Given the description of an element on the screen output the (x, y) to click on. 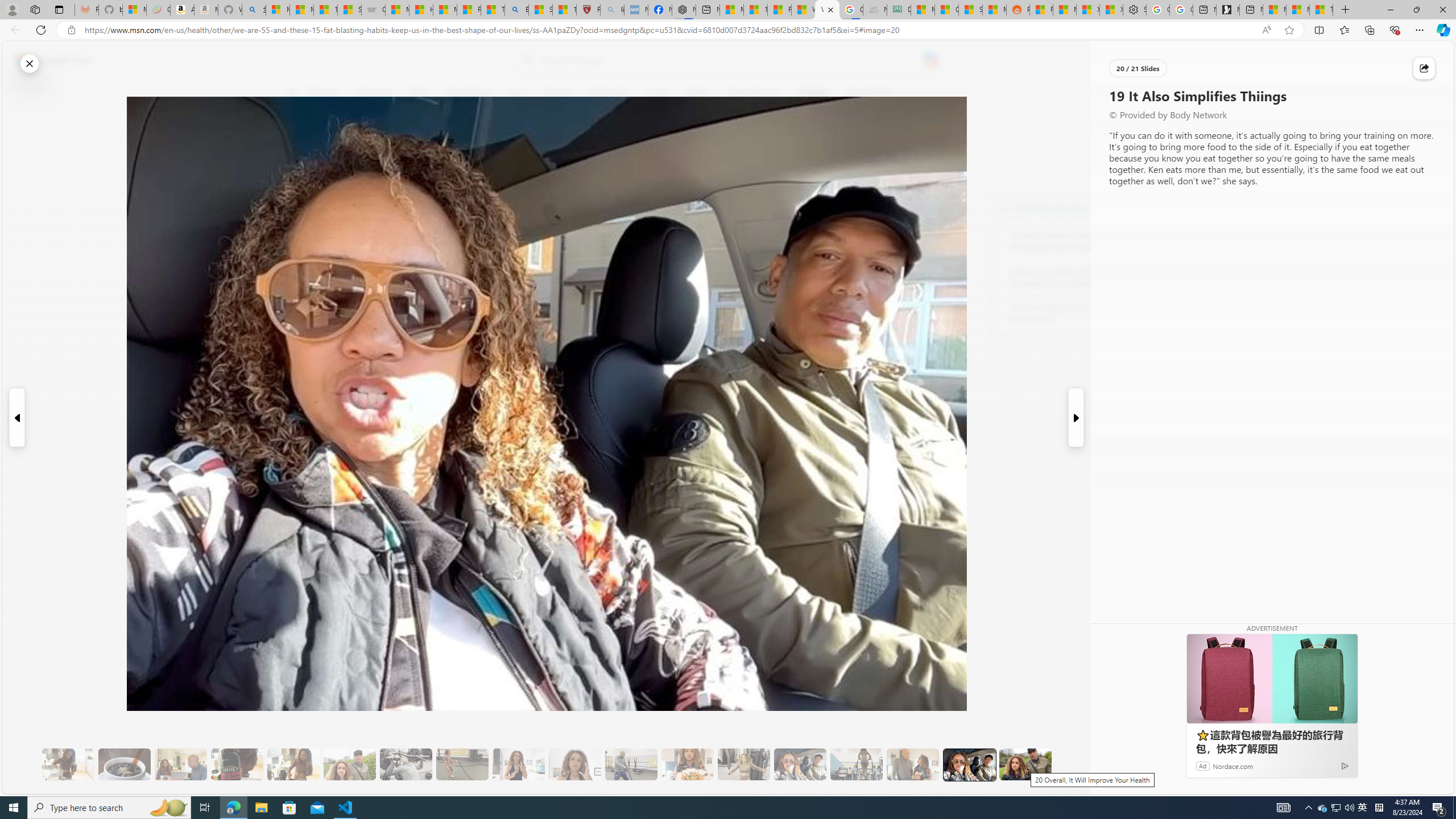
Open navigation menu (292, 92)
8 Be Mindful of Coffee (124, 764)
MSNBC - MSN (922, 9)
8 Reasons to Drink Kombucha, According to a Nutritionist (1071, 277)
Skip to footer (46, 59)
19 It Also Simplifies Thiings (968, 764)
Crime (657, 92)
12 Proven Ways To Increase Your Metabolism (1071, 313)
